Given the description of an element on the screen output the (x, y) to click on. 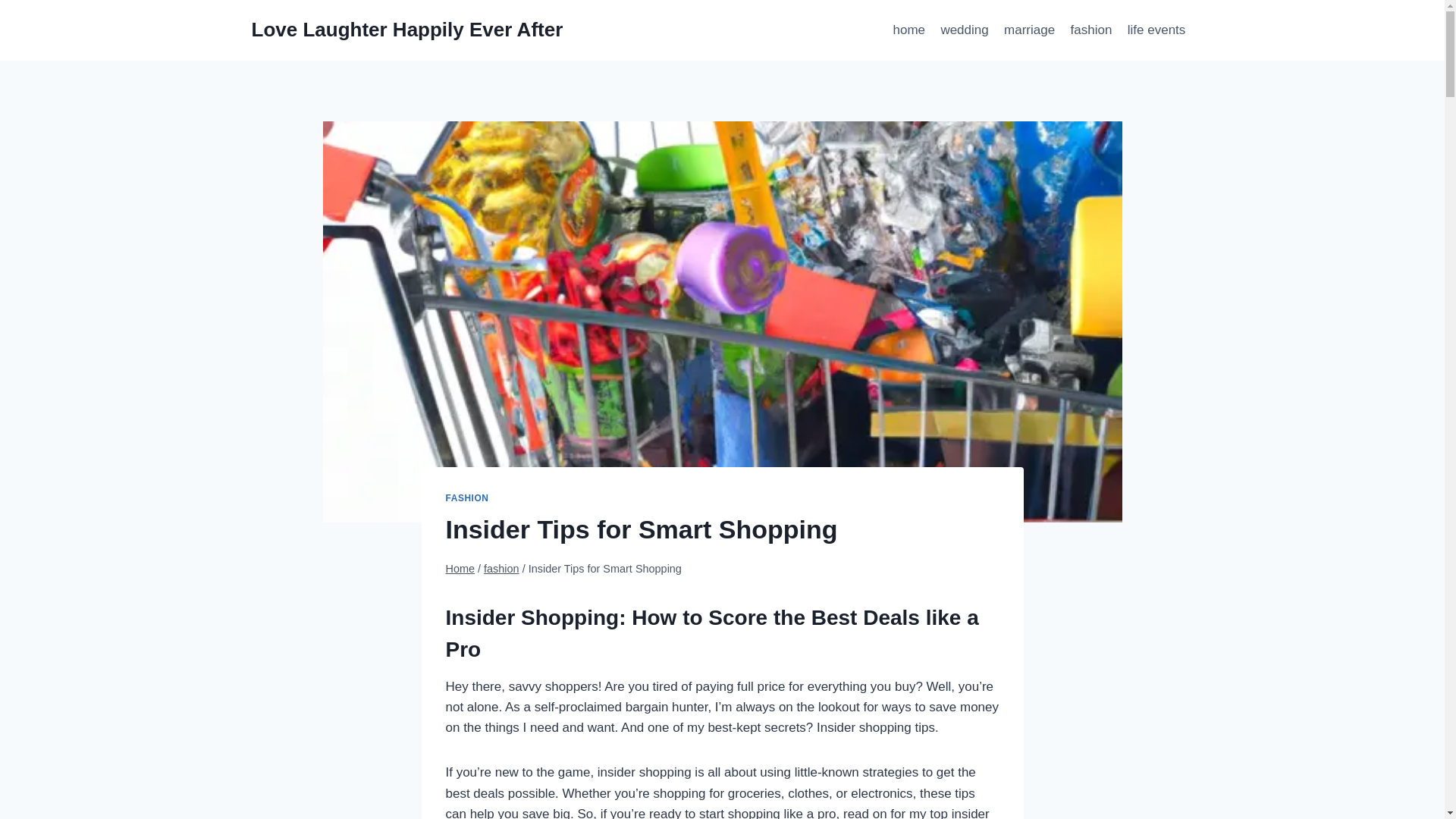
FASHION (467, 498)
wedding (964, 30)
home (909, 30)
marriage (1028, 30)
fashion (1090, 30)
life events (1156, 30)
fashion (501, 568)
Home (460, 568)
Love Laughter Happily Ever After (407, 29)
